Given the description of an element on the screen output the (x, y) to click on. 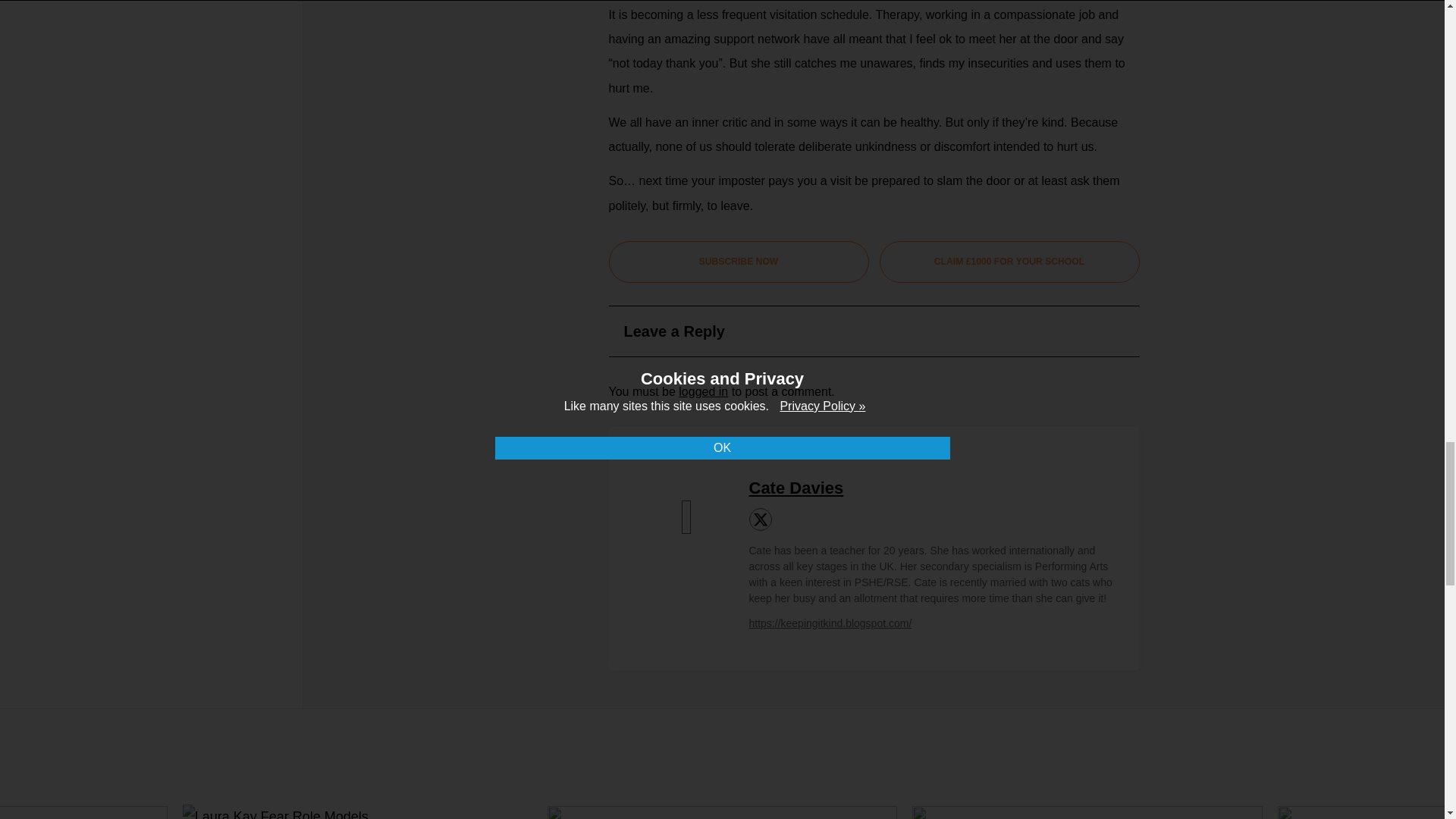
Posts by Cate Davies (796, 487)
twitter (759, 519)
